Given the description of an element on the screen output the (x, y) to click on. 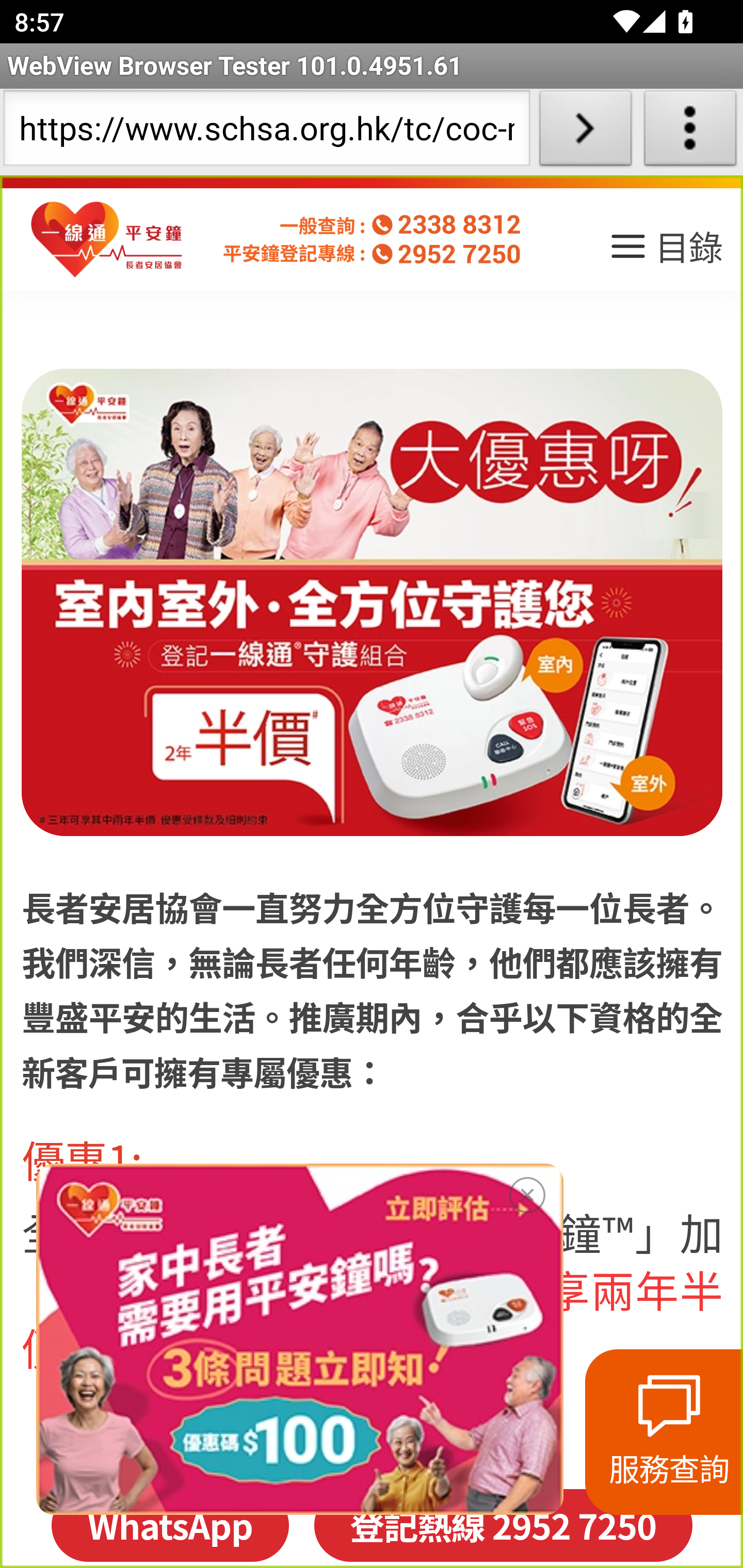
Load URL (585, 132)
About WebView (690, 132)
homepage (107, 240)
目錄 (665, 252)
Dec Coupon Code Allsize Popup 300x200 Yescta (299, 1338)
site.close (526, 1191)
服務查詢 (664, 1432)
